Given the description of an element on the screen output the (x, y) to click on. 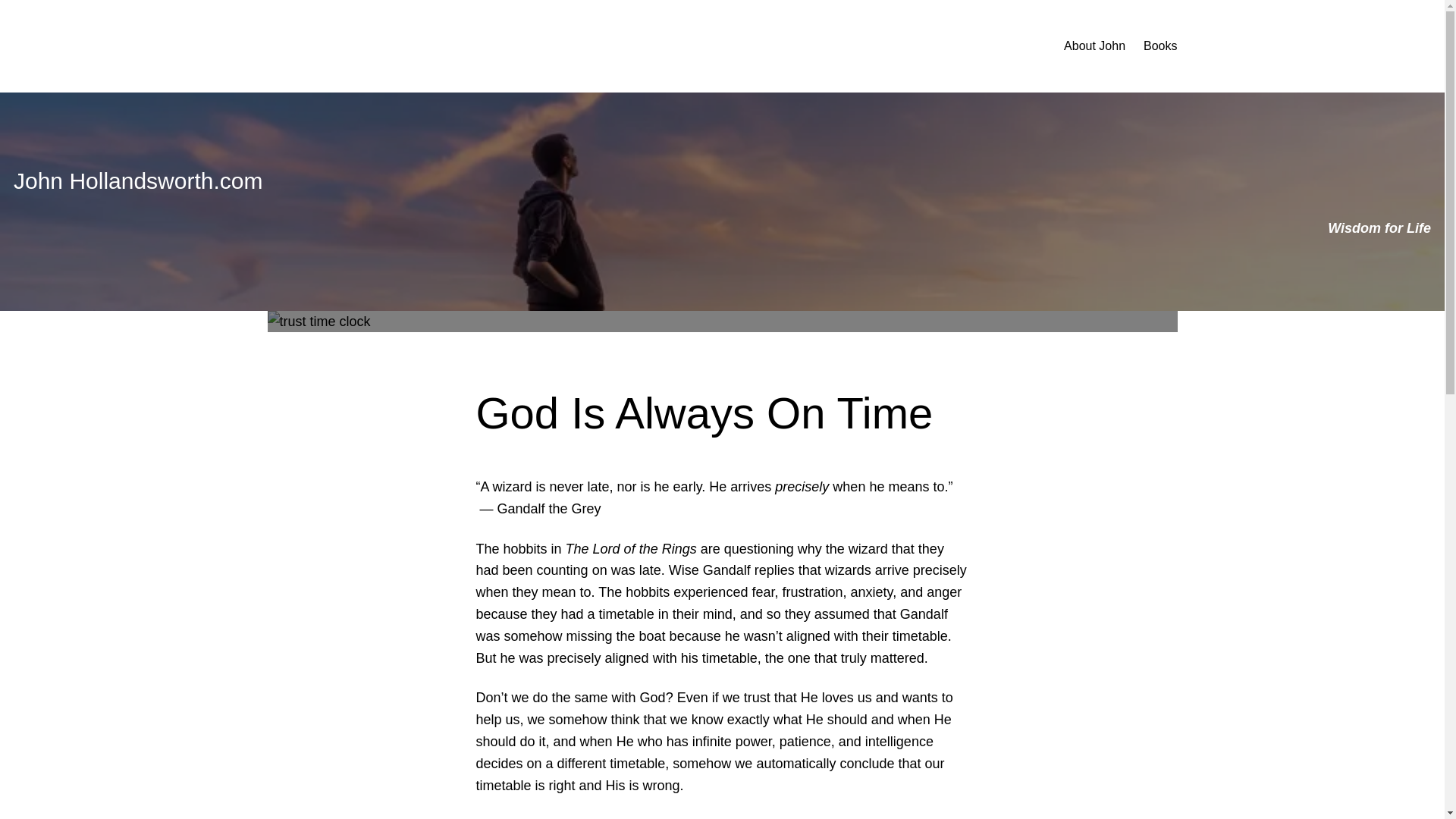
Books (1159, 46)
About John (1094, 46)
